Given the description of an element on the screen output the (x, y) to click on. 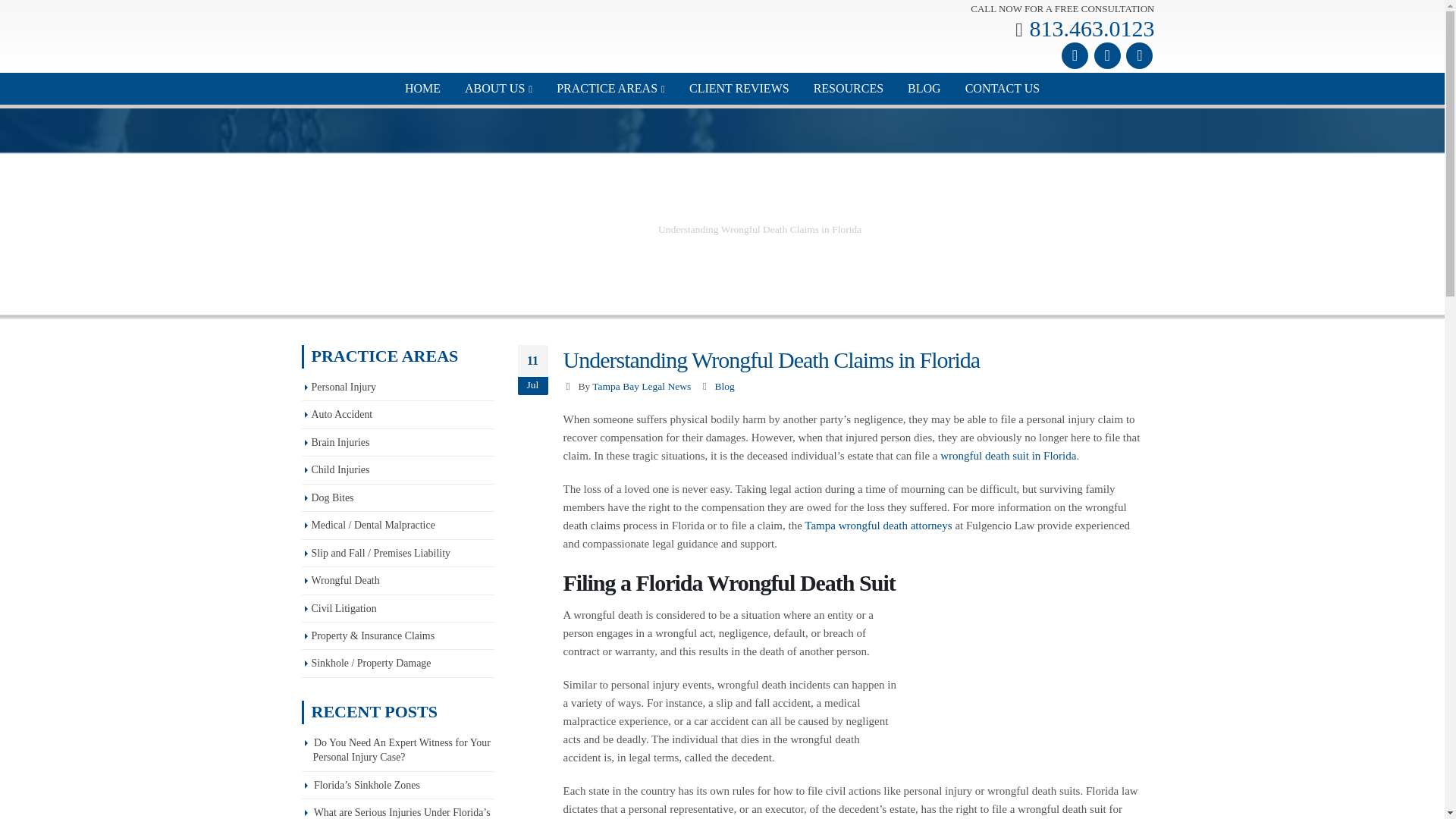
RESOURCES (848, 88)
Tampa Bay Legal News (641, 386)
PRACTICE AREAS (610, 88)
Home (595, 229)
813.463.0123 (1091, 28)
Posts by Tampa Bay Legal News (641, 386)
CONTACT US (1002, 88)
HOME (422, 88)
CLIENT REVIEWS (739, 88)
Tampa wrongful death attorneys (878, 525)
